Given the description of an element on the screen output the (x, y) to click on. 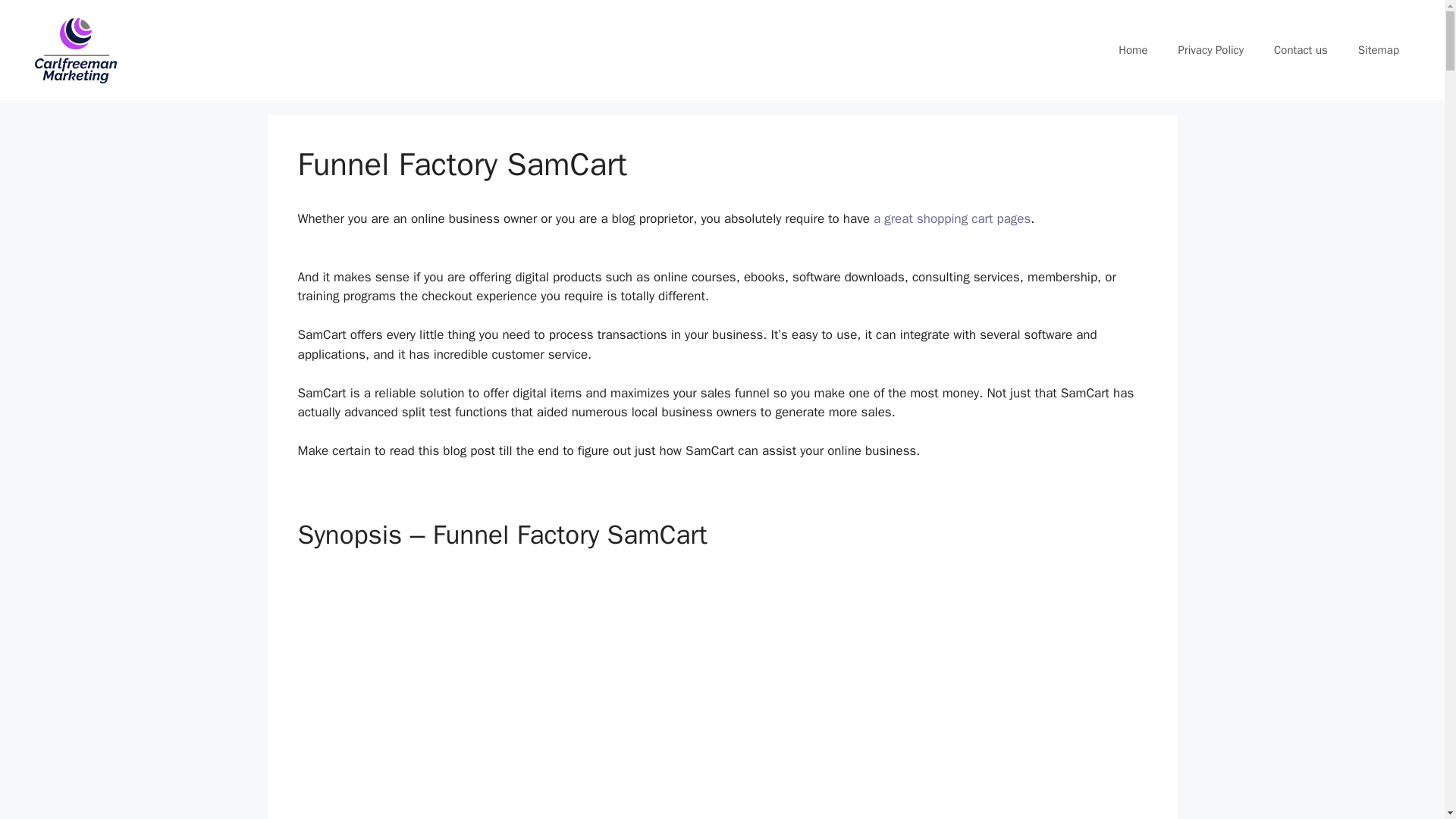
Home (1132, 49)
Contact us (1300, 49)
Sitemap (1377, 49)
a great shopping cart pages (951, 218)
Privacy Policy (1210, 49)
